Given the description of an element on the screen output the (x, y) to click on. 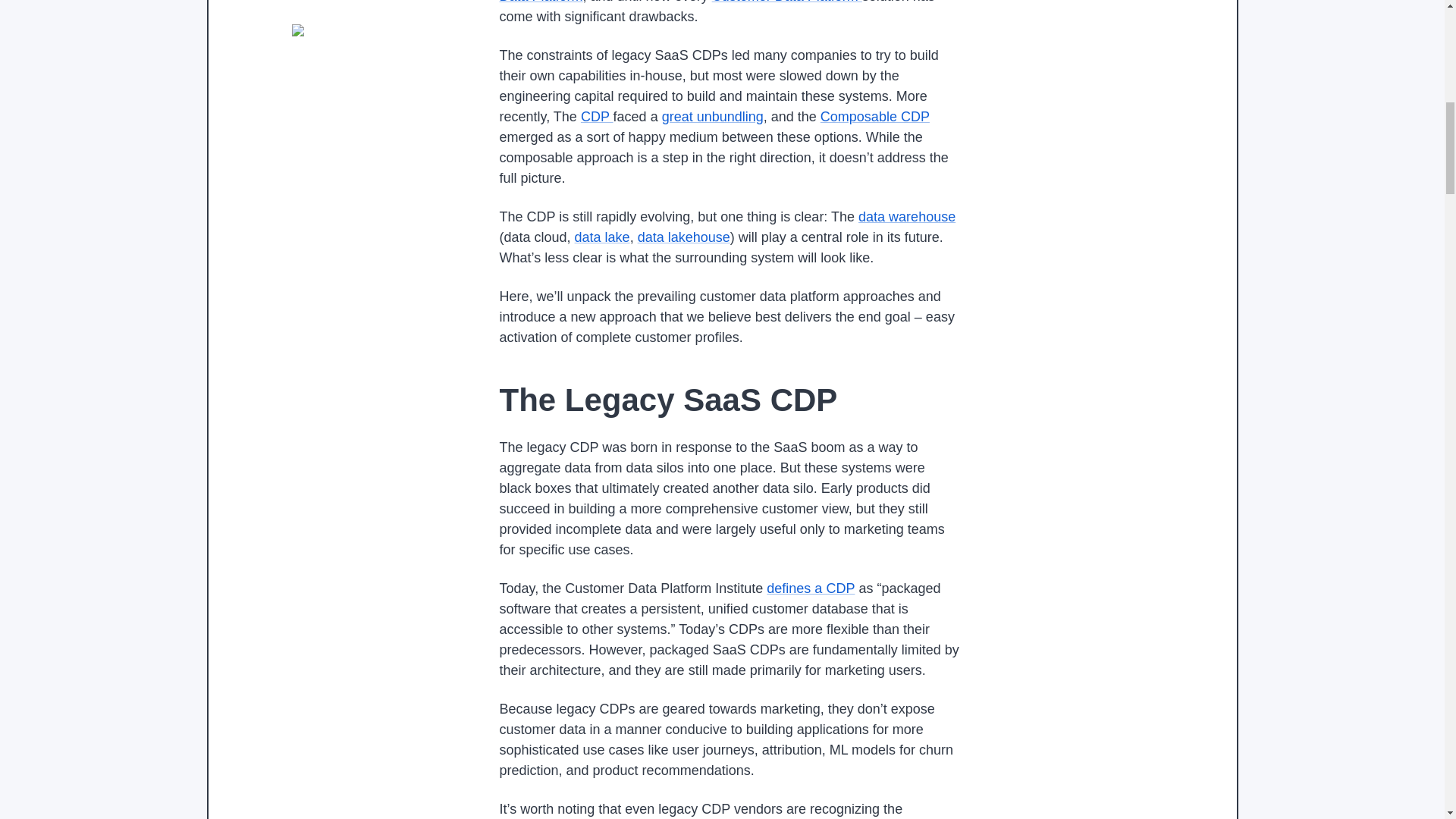
data lake (602, 237)
data lakehouse (683, 237)
Customer Data Platform (786, 2)
data warehouse (907, 216)
defines a CDP (810, 588)
CDP (596, 116)
great unbundling (712, 116)
Composable CDP (875, 116)
